Given the description of an element on the screen output the (x, y) to click on. 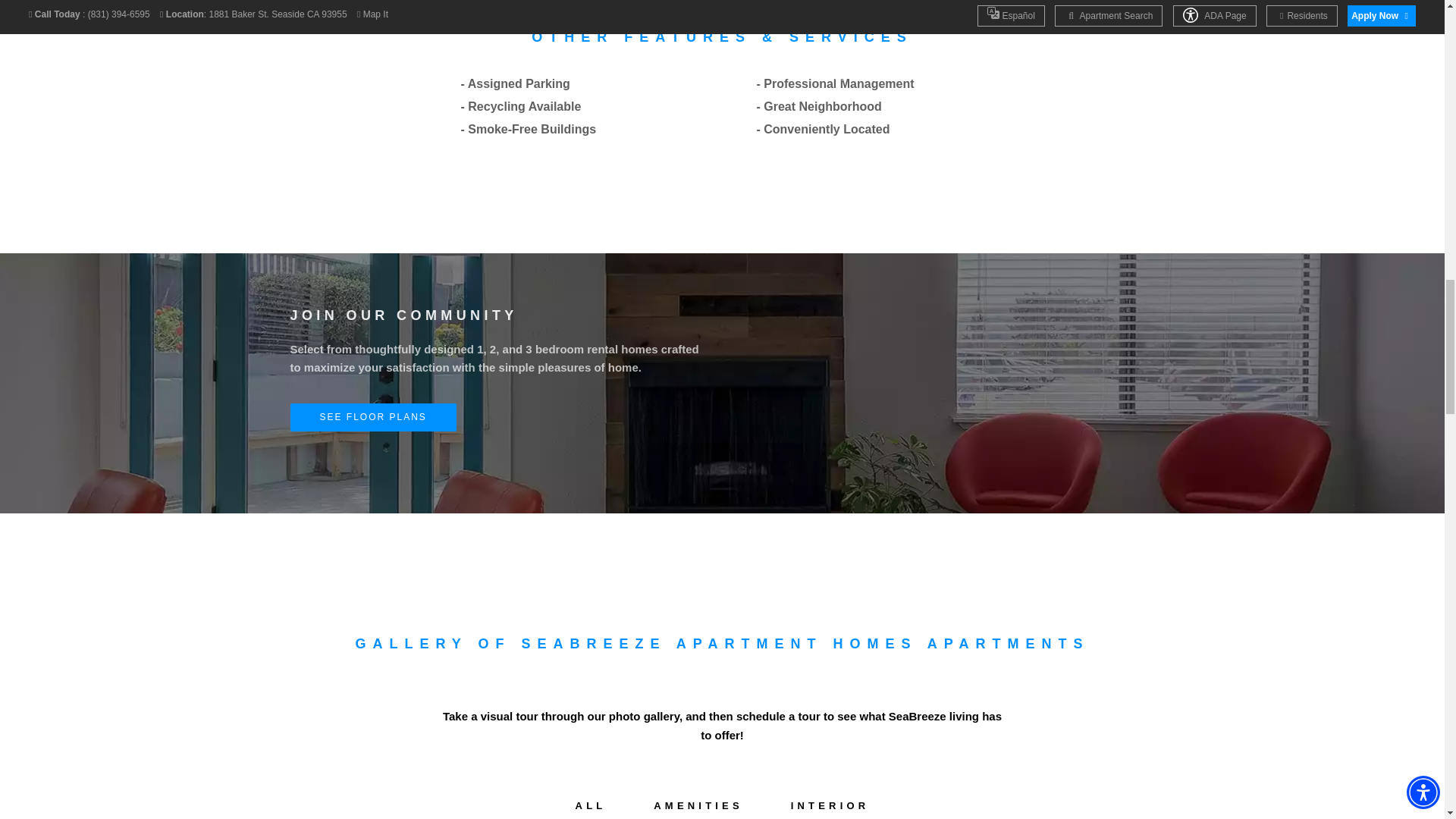
INTERIOR (829, 806)
SEE FLOOR PLANS (499, 417)
ALL (591, 806)
SeaBreeze Apartment Homes Floorplan (949, 367)
SEE FLOOR PLANS (372, 417)
AMENITIES (697, 806)
